Given the description of an element on the screen output the (x, y) to click on. 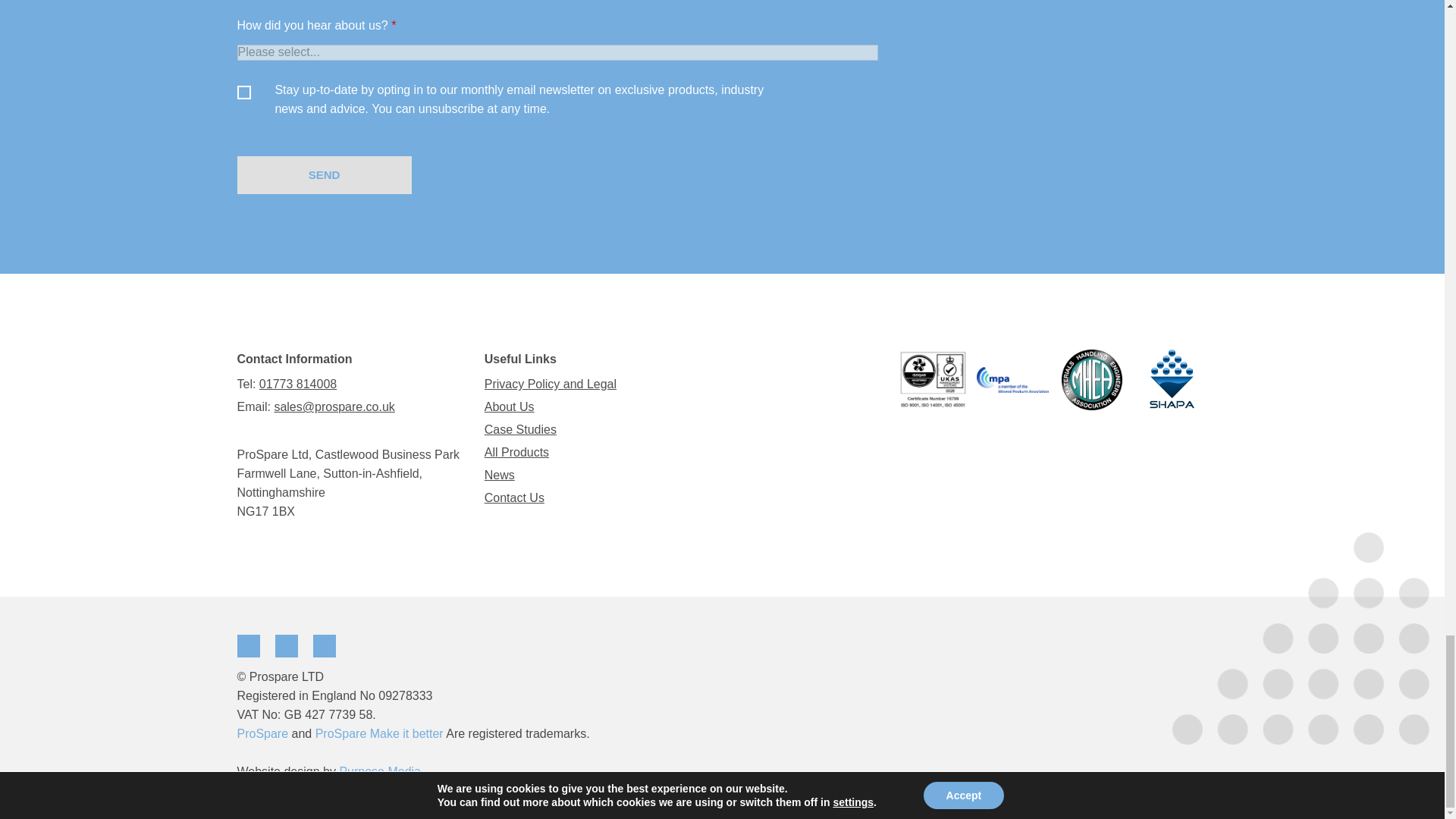
Send (322, 175)
